Given the description of an element on the screen output the (x, y) to click on. 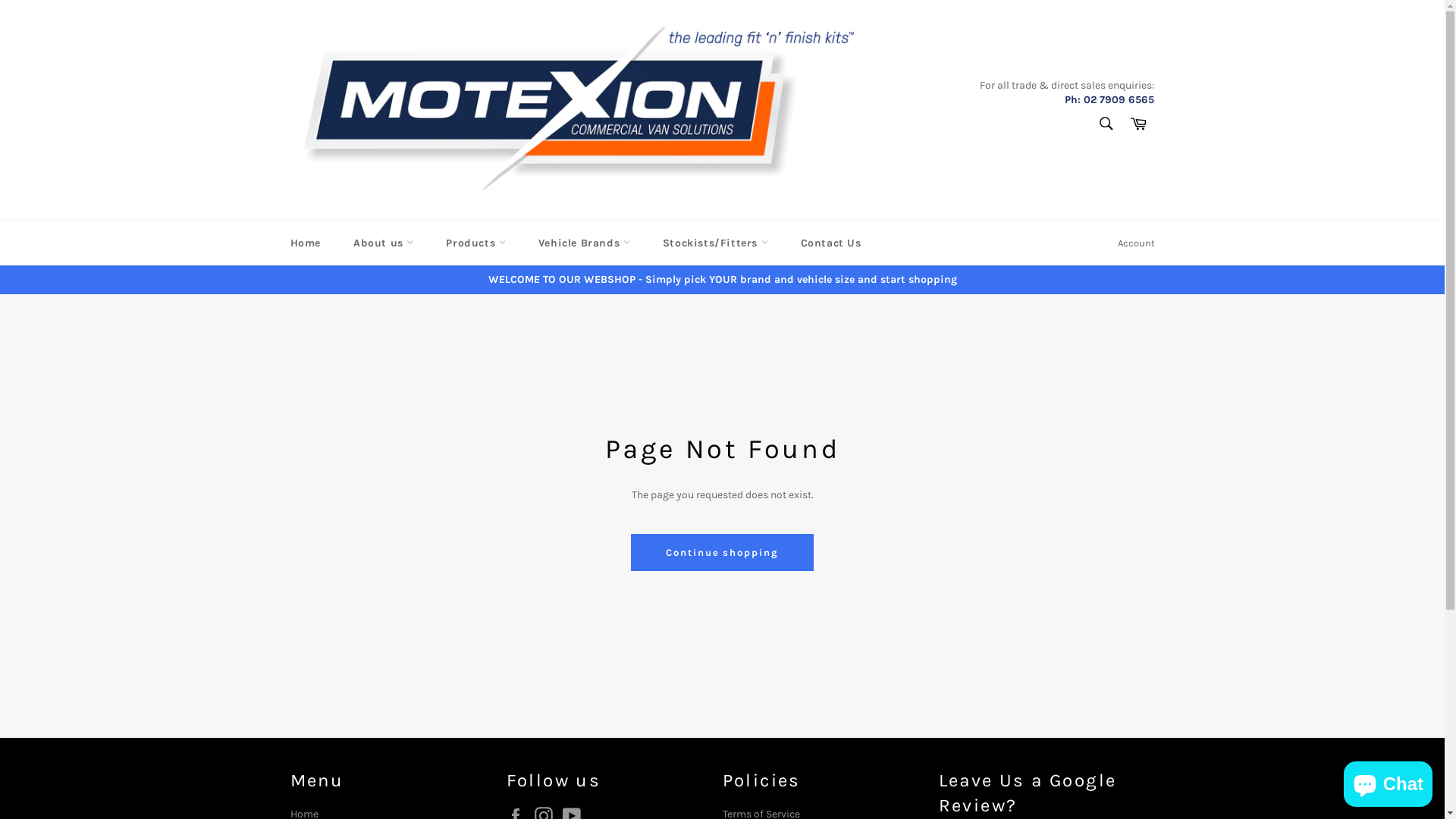
About us Element type: text (383, 242)
Ph: 02 7909 6565 Element type: text (1109, 99)
Search Element type: text (1105, 123)
Products Element type: text (475, 242)
Stockists/Fitters Element type: text (715, 242)
Cart Element type: text (1138, 124)
Vehicle Brands Element type: text (584, 242)
Shopify online store chat Element type: hover (1388, 780)
Contact Us Element type: text (830, 242)
Continue shopping Element type: text (721, 552)
Home Element type: text (304, 242)
Account Element type: text (1136, 243)
